Given the description of an element on the screen output the (x, y) to click on. 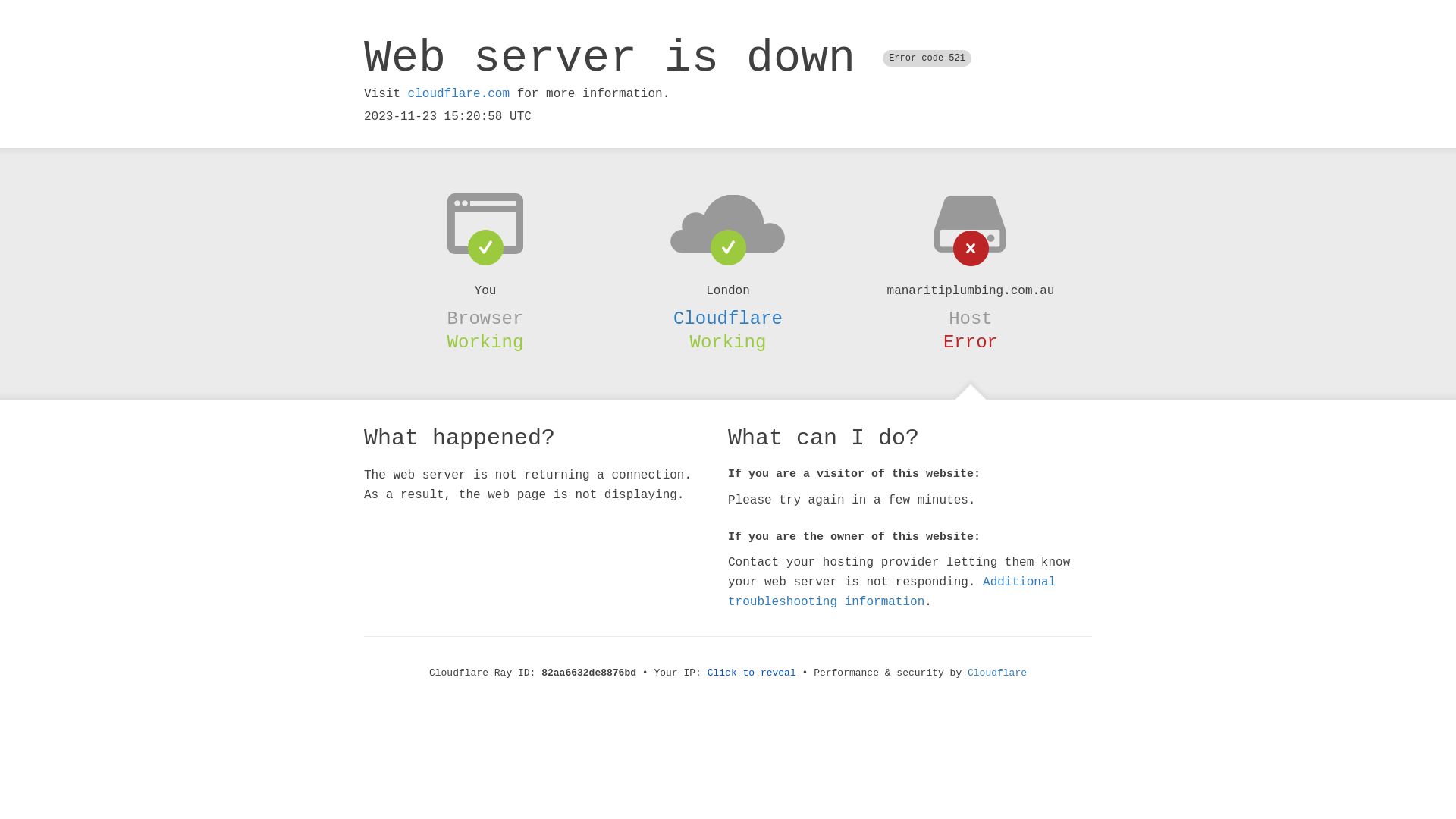
Cloudflare Element type: text (727, 318)
Cloudflare Element type: text (996, 672)
cloudflare.com Element type: text (458, 93)
Additional troubleshooting information Element type: text (891, 591)
Click to reveal Element type: text (751, 672)
